Given the description of an element on the screen output the (x, y) to click on. 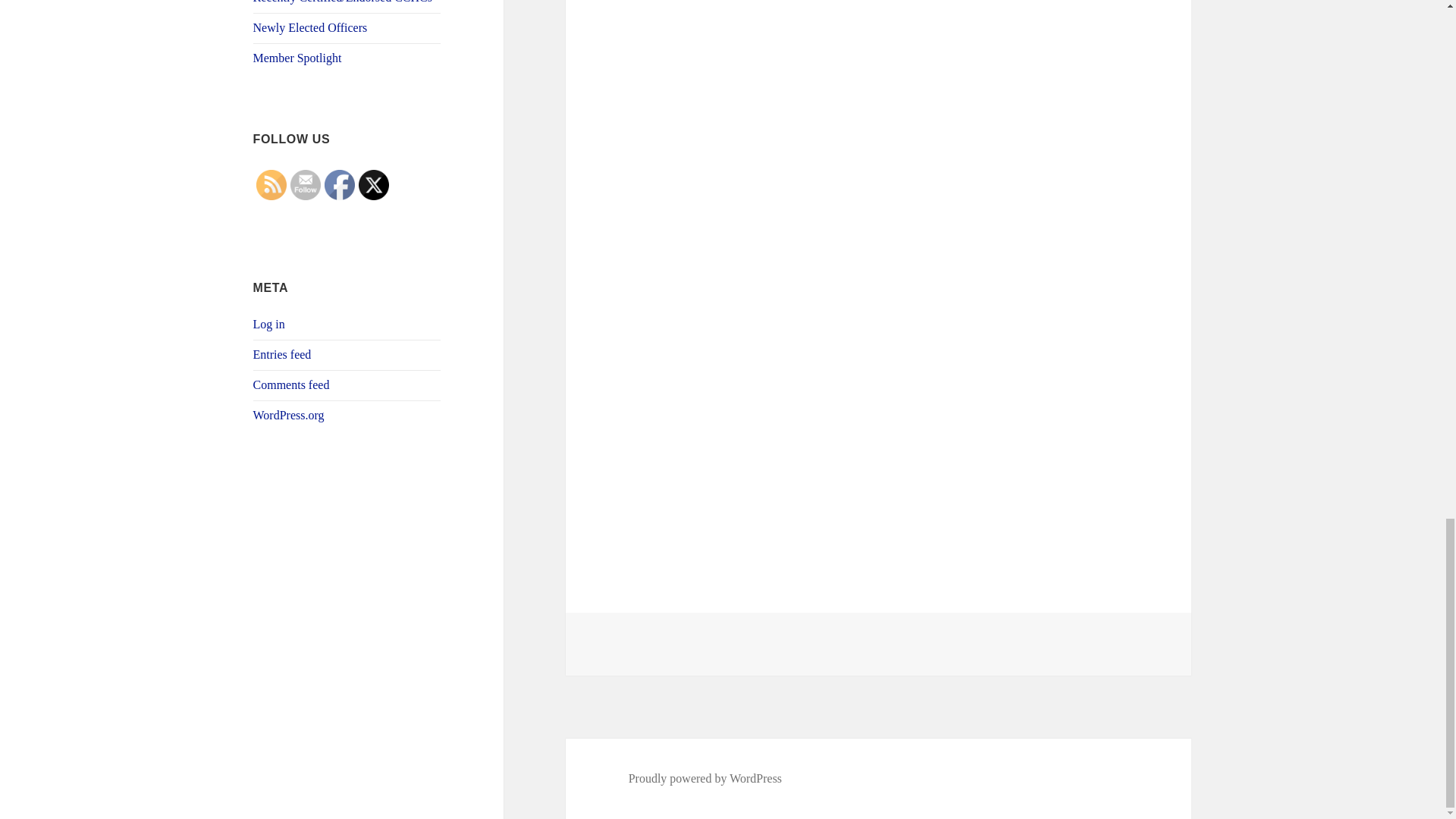
Log in (269, 323)
Follow by Email (304, 184)
Entries feed (282, 354)
Comments feed (291, 384)
Newly Elected Officers (310, 27)
Twitter (373, 184)
WordPress.org (288, 414)
Facebook (339, 184)
Member Spotlight (297, 57)
RSS (271, 184)
